Given the description of an element on the screen output the (x, y) to click on. 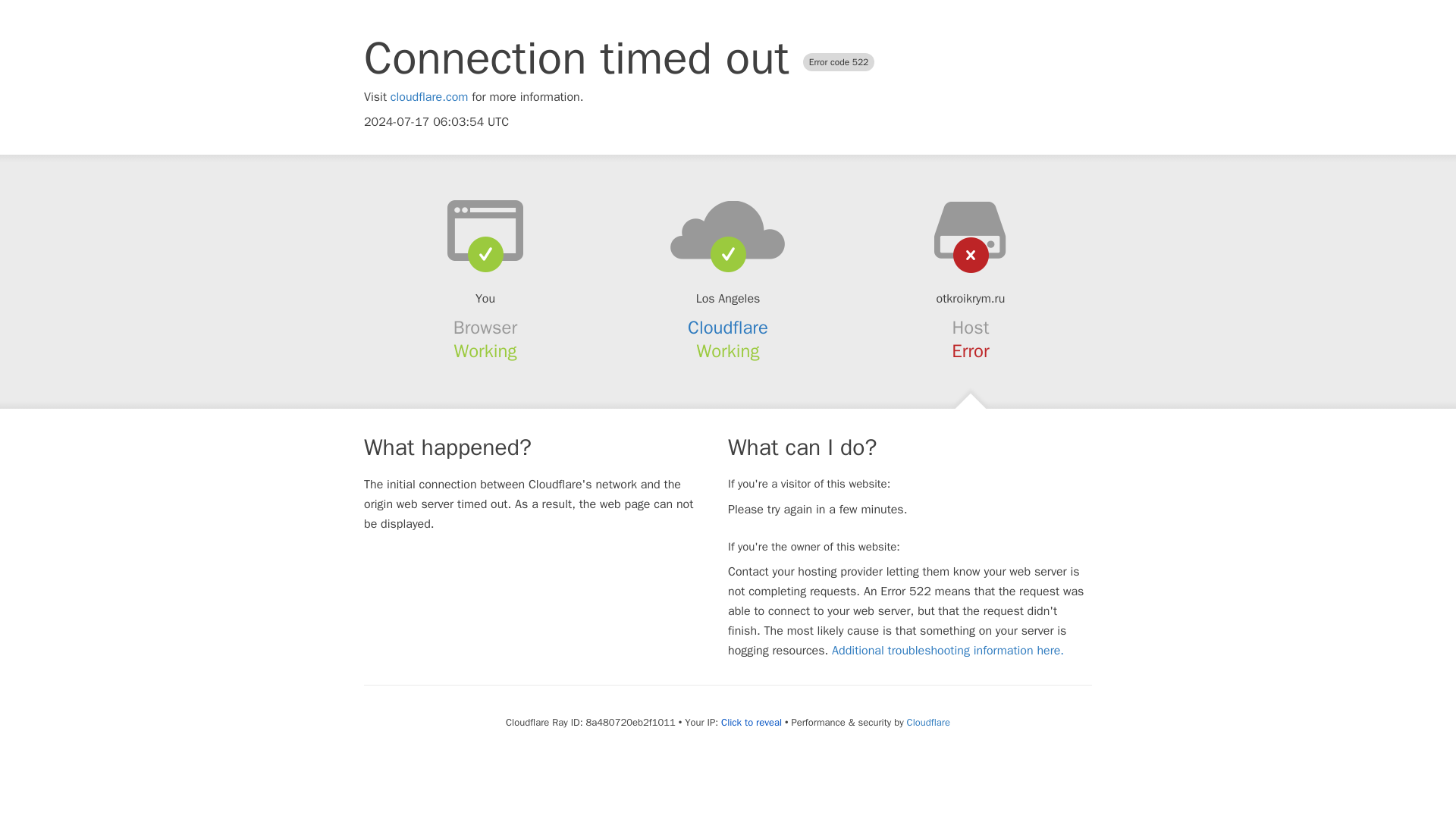
Click to reveal (750, 722)
Additional troubleshooting information here. (947, 650)
Cloudflare (928, 721)
Cloudflare (727, 327)
cloudflare.com (429, 96)
